Given the description of an element on the screen output the (x, y) to click on. 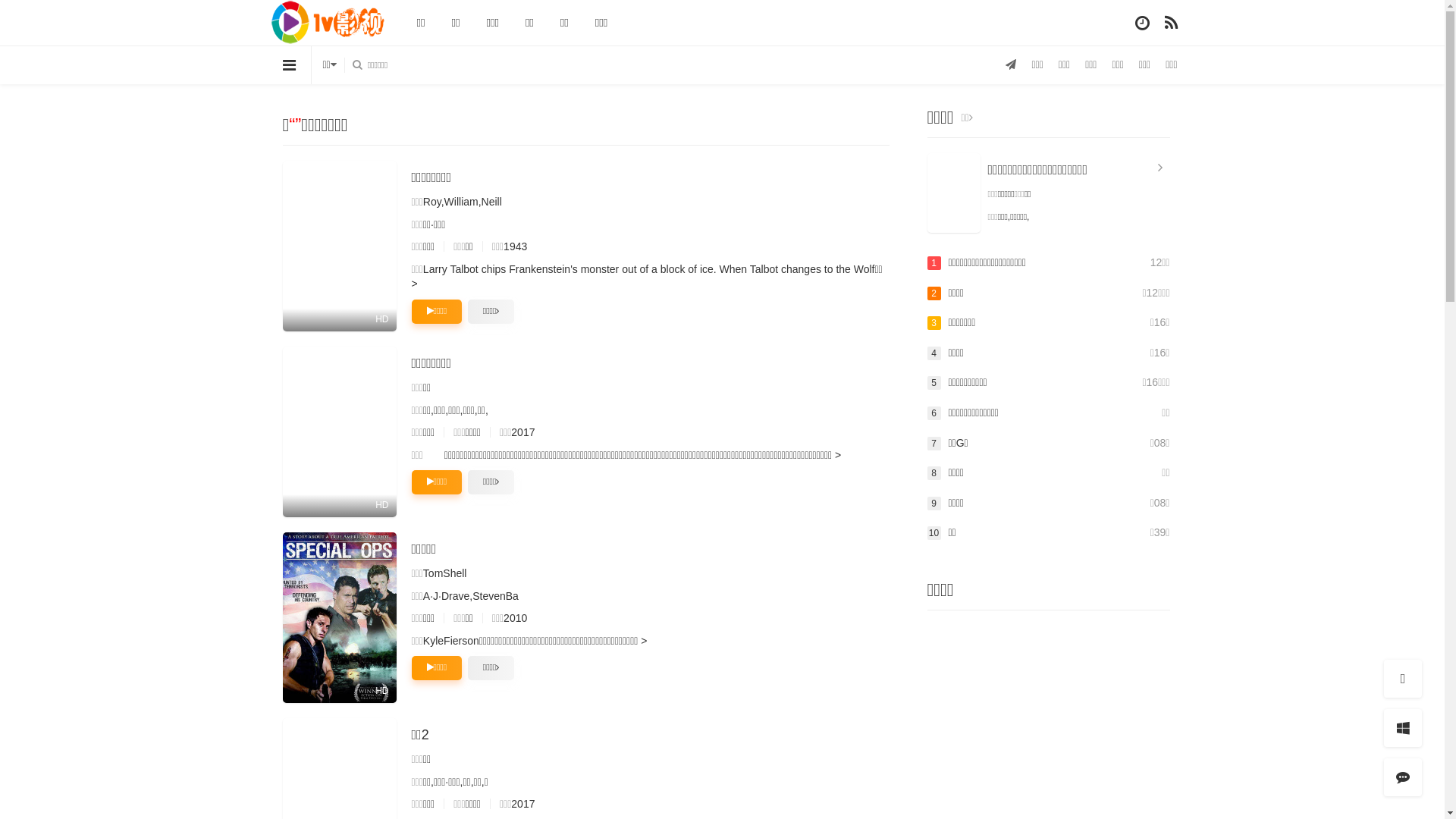
HD Element type: text (338, 431)
HD Element type: text (338, 245)
HD Element type: text (338, 617)
